Given the description of an element on the screen output the (x, y) to click on. 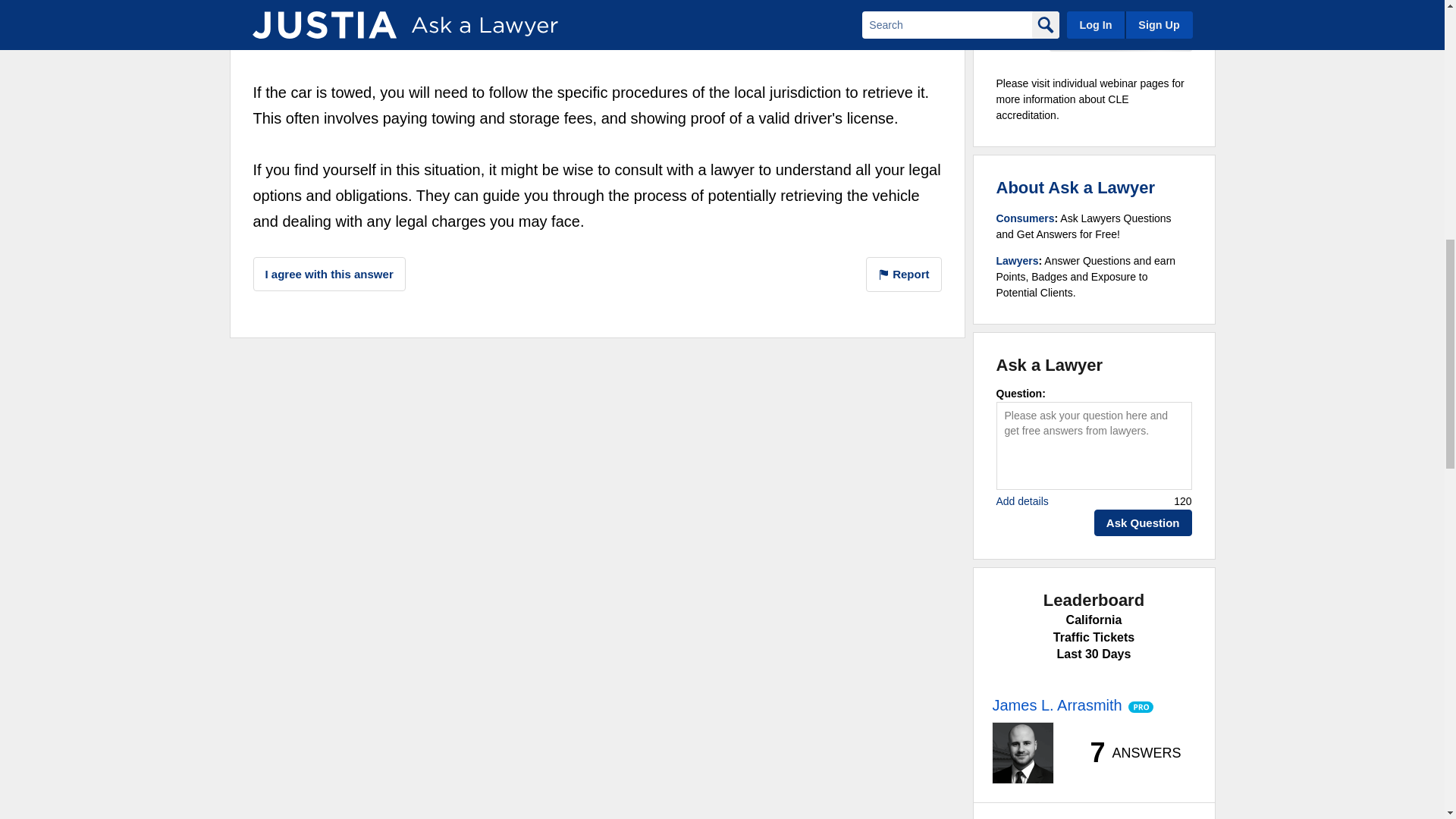
Ask a Lawyer - Leaderboard - Lawyer Photo (1021, 752)
Ask a Lawyer - FAQs - Lawyers (1017, 260)
Ask a Lawyer - Leaderboard - Lawyer Name (1056, 704)
Ask a Lawyer - Leaderboard - Lawyer Stats (1127, 752)
Ask a Lawyer - FAQs - Consumers (1024, 218)
